Given the description of an element on the screen output the (x, y) to click on. 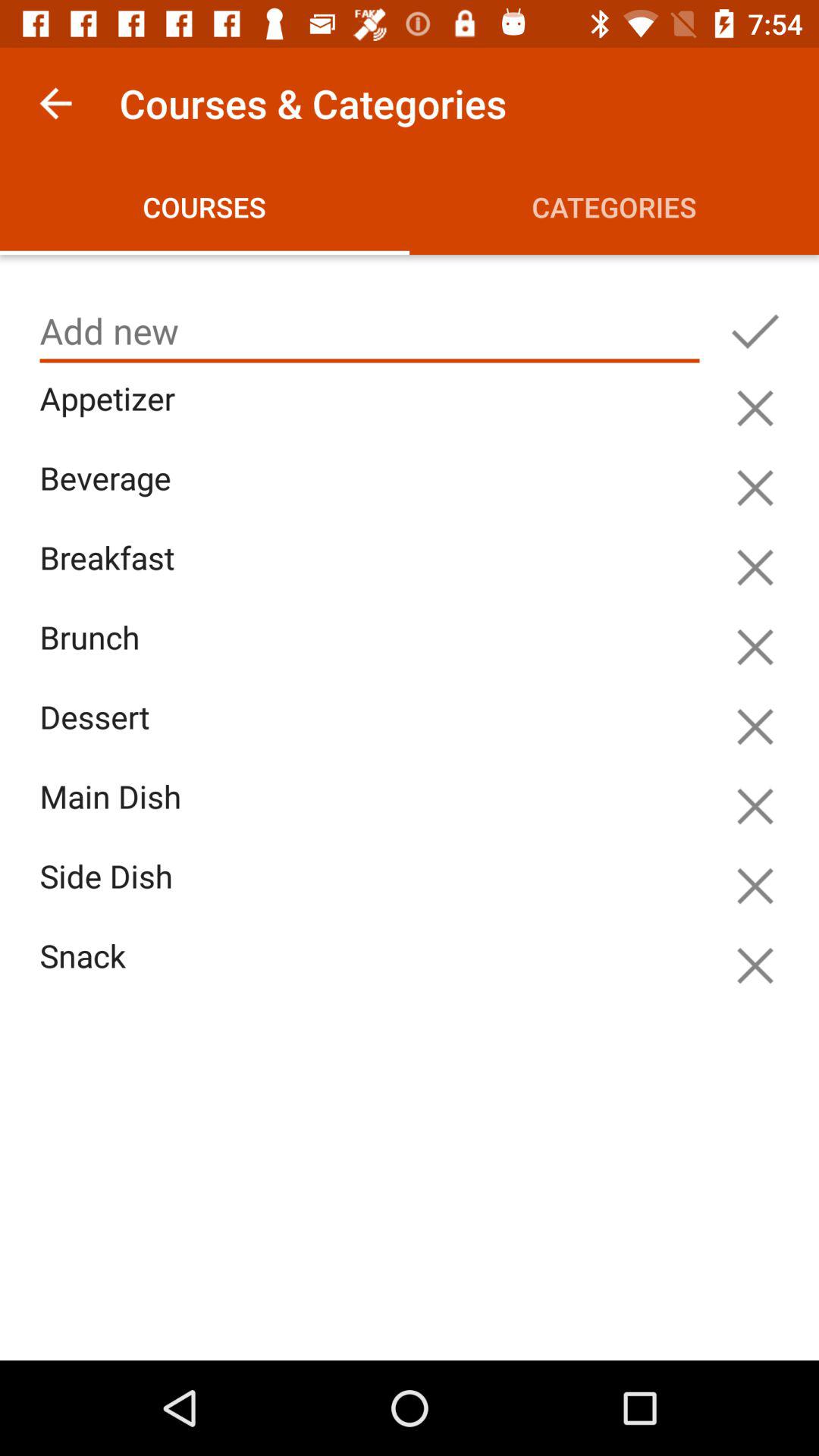
add a new category (755, 331)
